Given the description of an element on the screen output the (x, y) to click on. 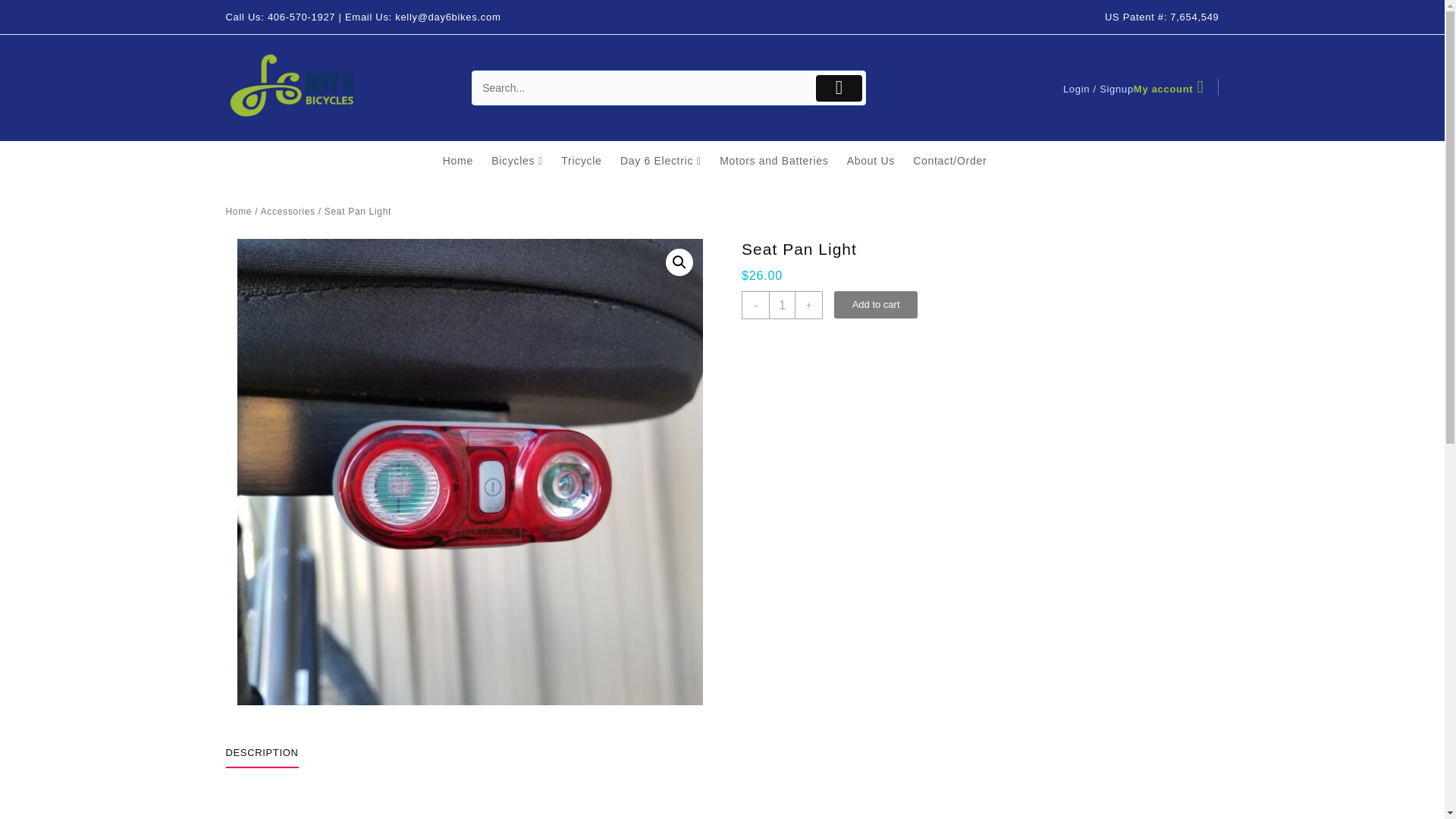
About Us (878, 161)
Search (641, 88)
Add to cart (875, 304)
1 (781, 304)
Home (238, 211)
Tricycle (587, 161)
Motors and Batteries (781, 161)
Accessories (287, 211)
Home (464, 161)
- (755, 304)
Submit (838, 87)
DESCRIPTION (261, 752)
Day 6 Electric (668, 161)
Bicycles (524, 161)
